Given the description of an element on the screen output the (x, y) to click on. 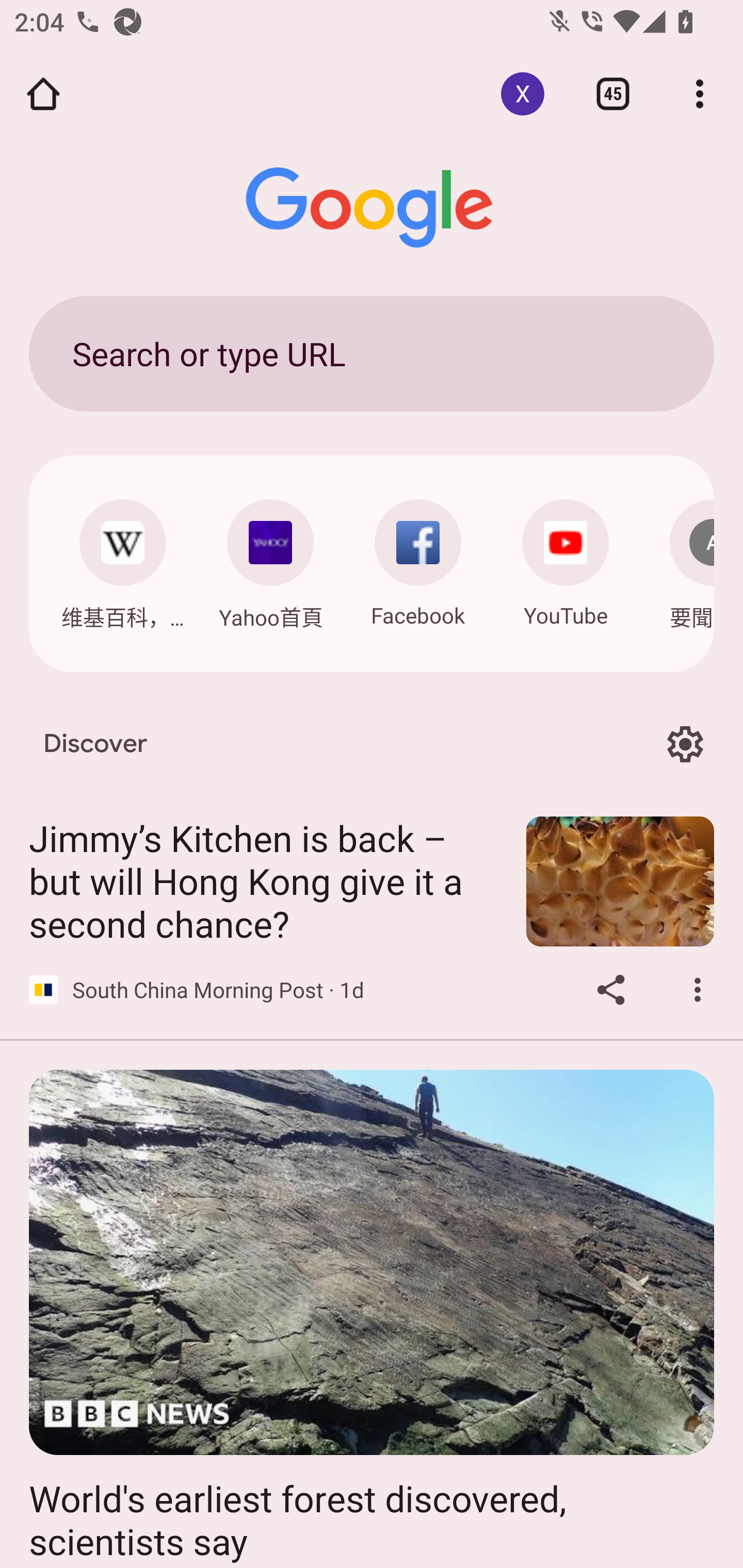
Open the home page (43, 93)
Switch or close tabs (612, 93)
Customize and control Google Chrome (699, 93)
Search or type URL (371, 353)
Navigate: Yahoo首頁: hk.mobi.yahoo.com Yahoo首頁 (270, 558)
Navigate: Facebook: m.facebook.com Facebook (417, 558)
Navigate: YouTube: m.youtube.com YouTube (565, 558)
Options for Discover (684, 743)
